Given the description of an element on the screen output the (x, y) to click on. 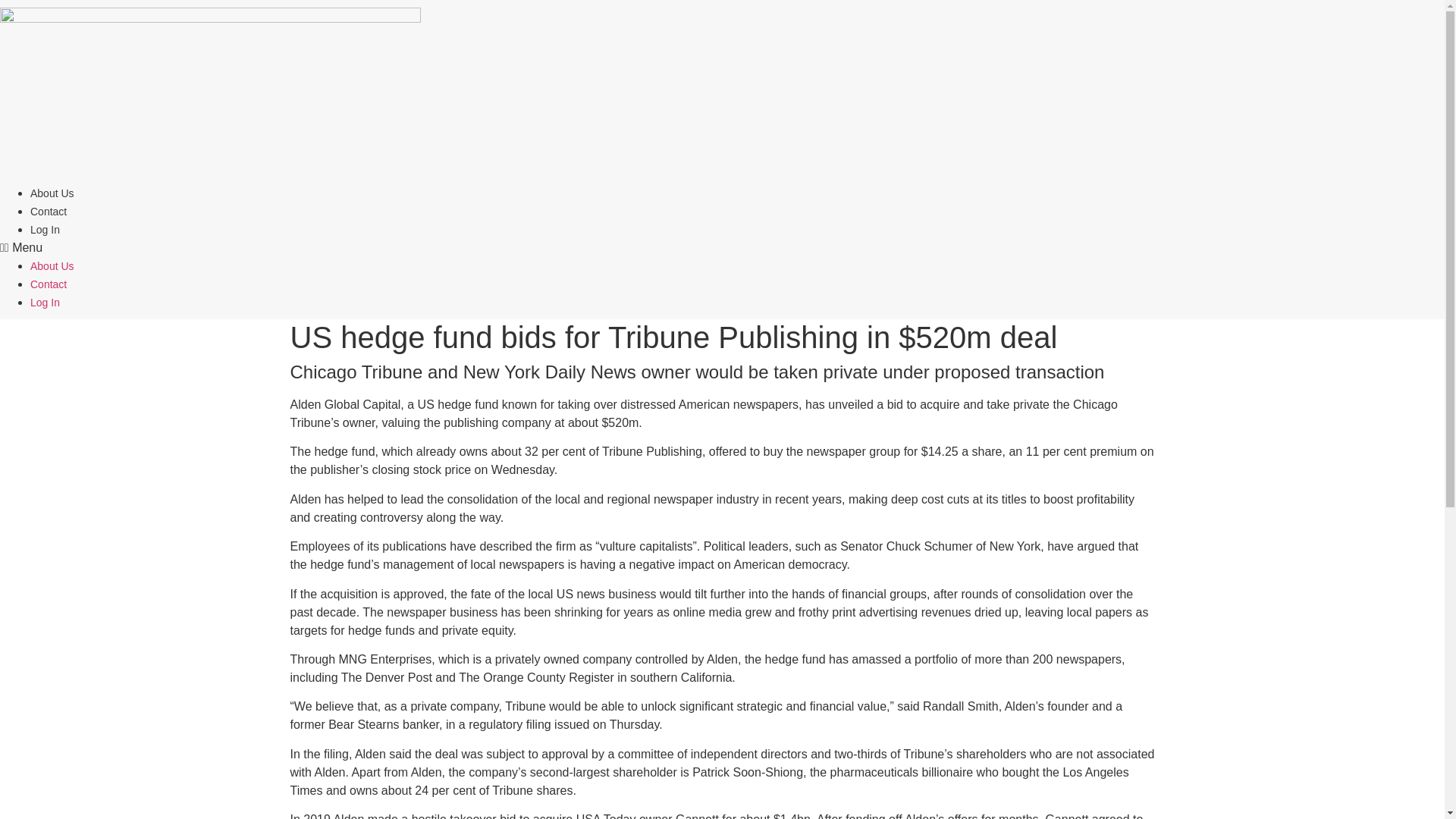
Contact (48, 284)
About Us (52, 193)
Log In (44, 302)
About Us (52, 265)
Contact (48, 211)
Log In (44, 229)
